Given the description of an element on the screen output the (x, y) to click on. 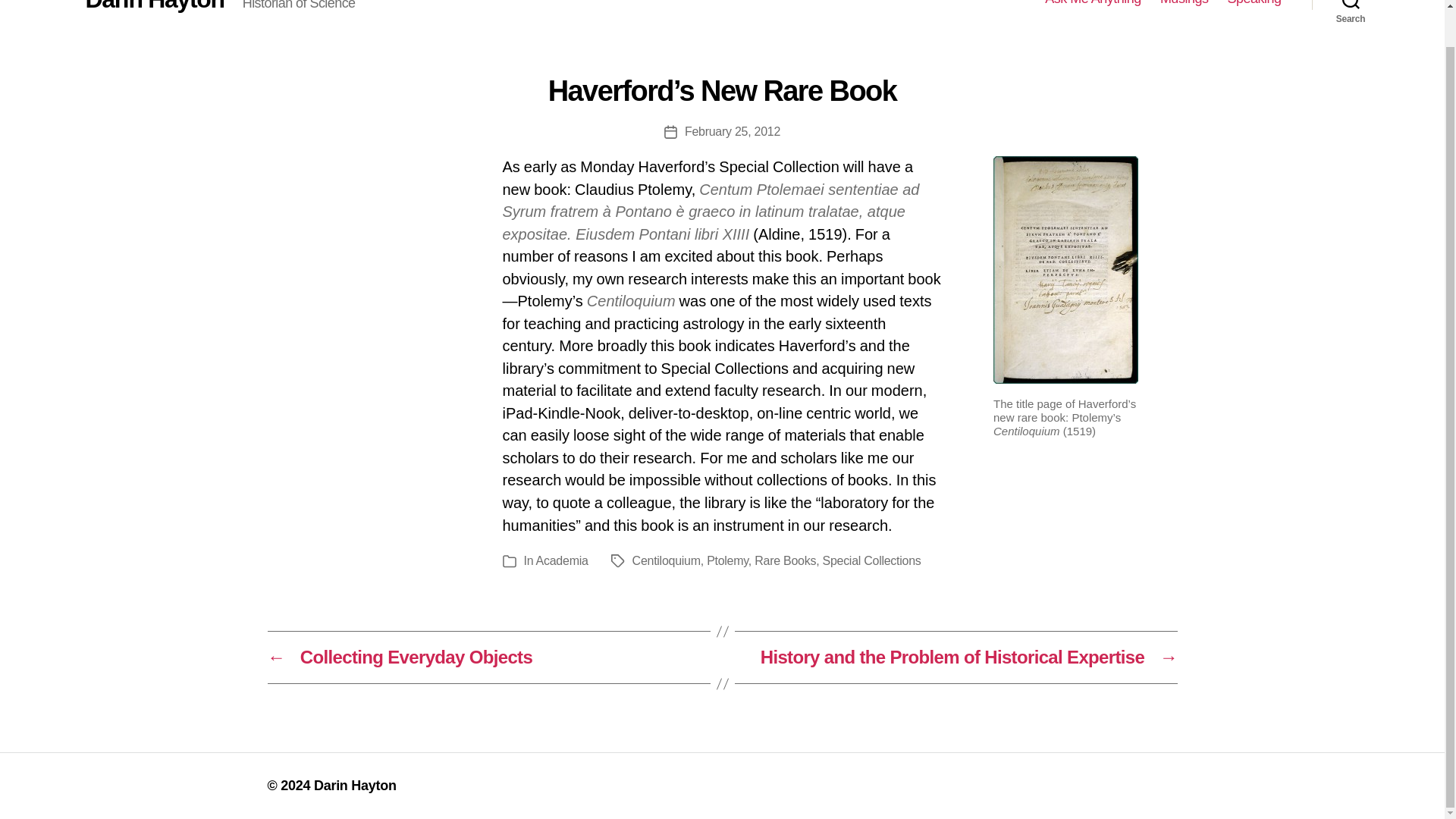
Search (1350, 7)
Special Collections (871, 560)
February 25, 2012 (732, 131)
Speaking (1254, 3)
Centiloquium (665, 560)
Rare Books (784, 560)
Academia (561, 560)
Musings (1184, 3)
Ptolemy (727, 560)
Darin Hayton (154, 5)
Ask Me Anything (1093, 3)
Darin Hayton (355, 785)
